Given the description of an element on the screen output the (x, y) to click on. 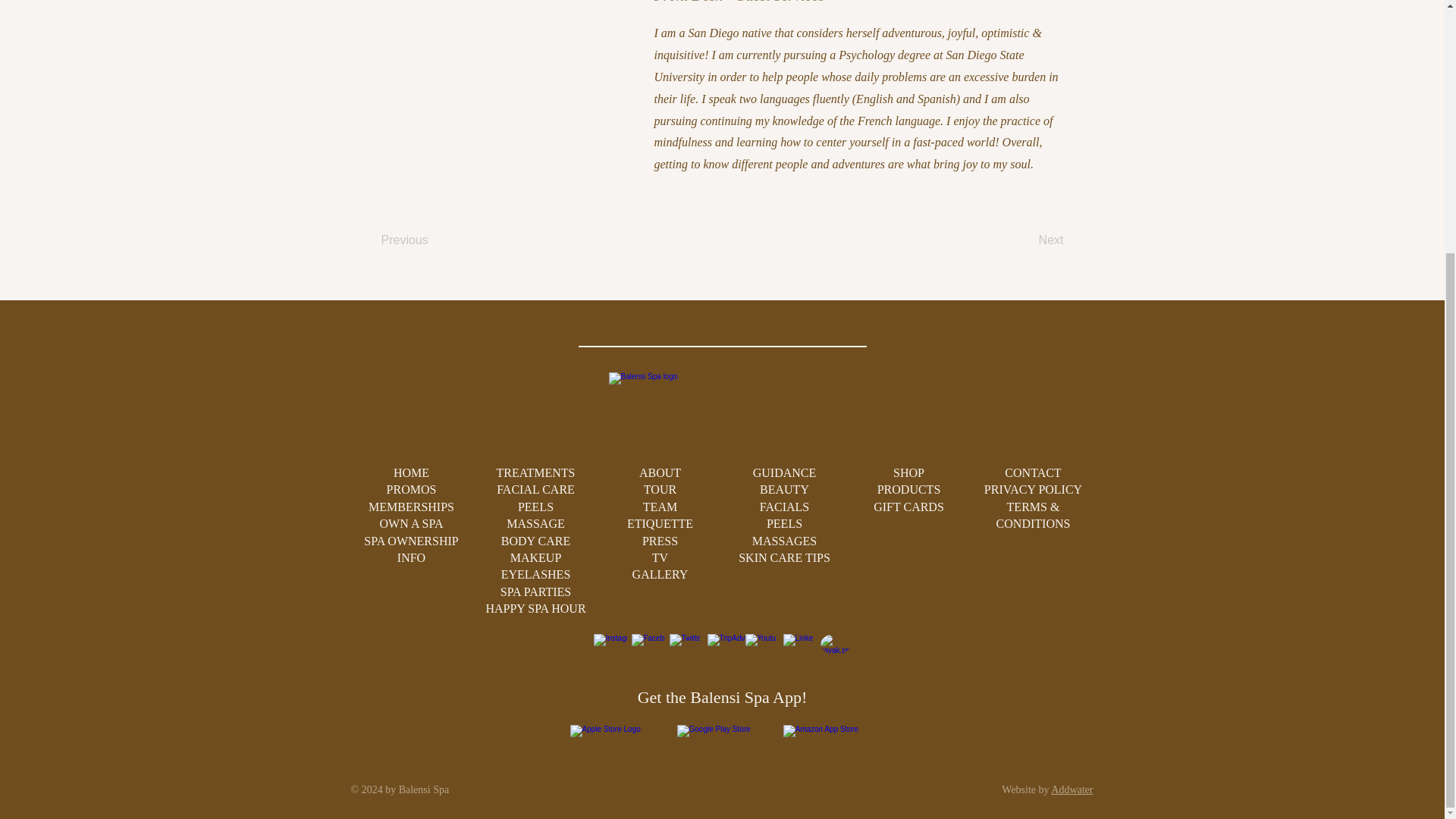
Next (1024, 240)
Balensi Spa logo (721, 410)
amazon.png (828, 738)
Previous (430, 240)
appstore.png (615, 738)
android.png (722, 739)
HOME (411, 472)
Selene (494, 108)
